Given the description of an element on the screen output the (x, y) to click on. 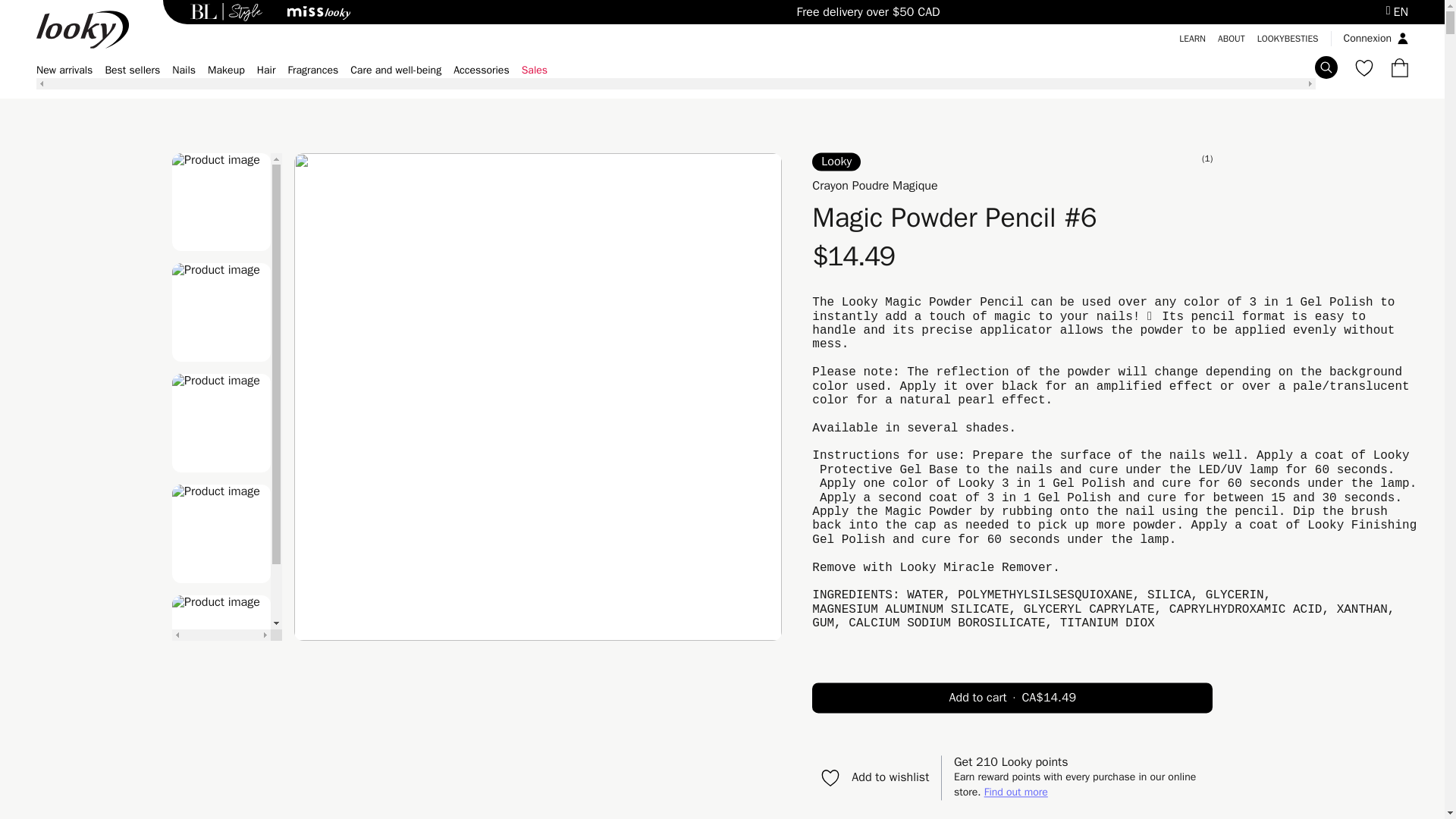
Best sellers (132, 70)
Sales (534, 70)
LOOKYBESTIES (1288, 38)
Accessories (480, 70)
LEARN (1192, 38)
ABOUT (1230, 38)
New arrivals (64, 70)
Connexion (1370, 38)
